Given the description of an element on the screen output the (x, y) to click on. 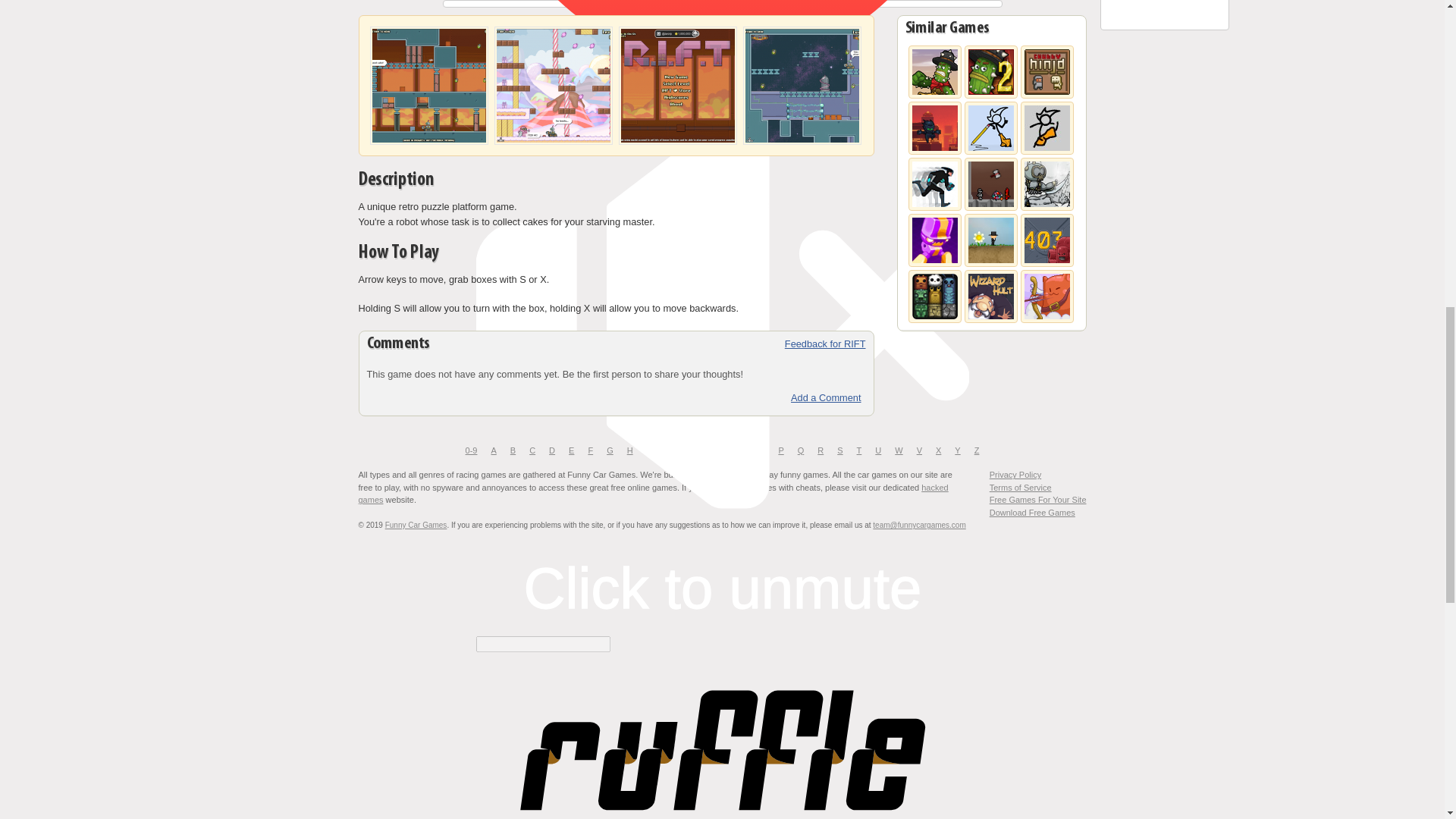
Add a Comment (619, 397)
RIFT Screenshot (677, 143)
Advertisement (1164, 12)
RIFT Screenshot (553, 143)
Similar Games (948, 27)
Description (396, 180)
RIFT Screenshot (429, 143)
How To Play (399, 253)
Feedback for RIFT (825, 343)
RIFT Screenshot (801, 143)
Comments (399, 343)
